Given the description of an element on the screen output the (x, y) to click on. 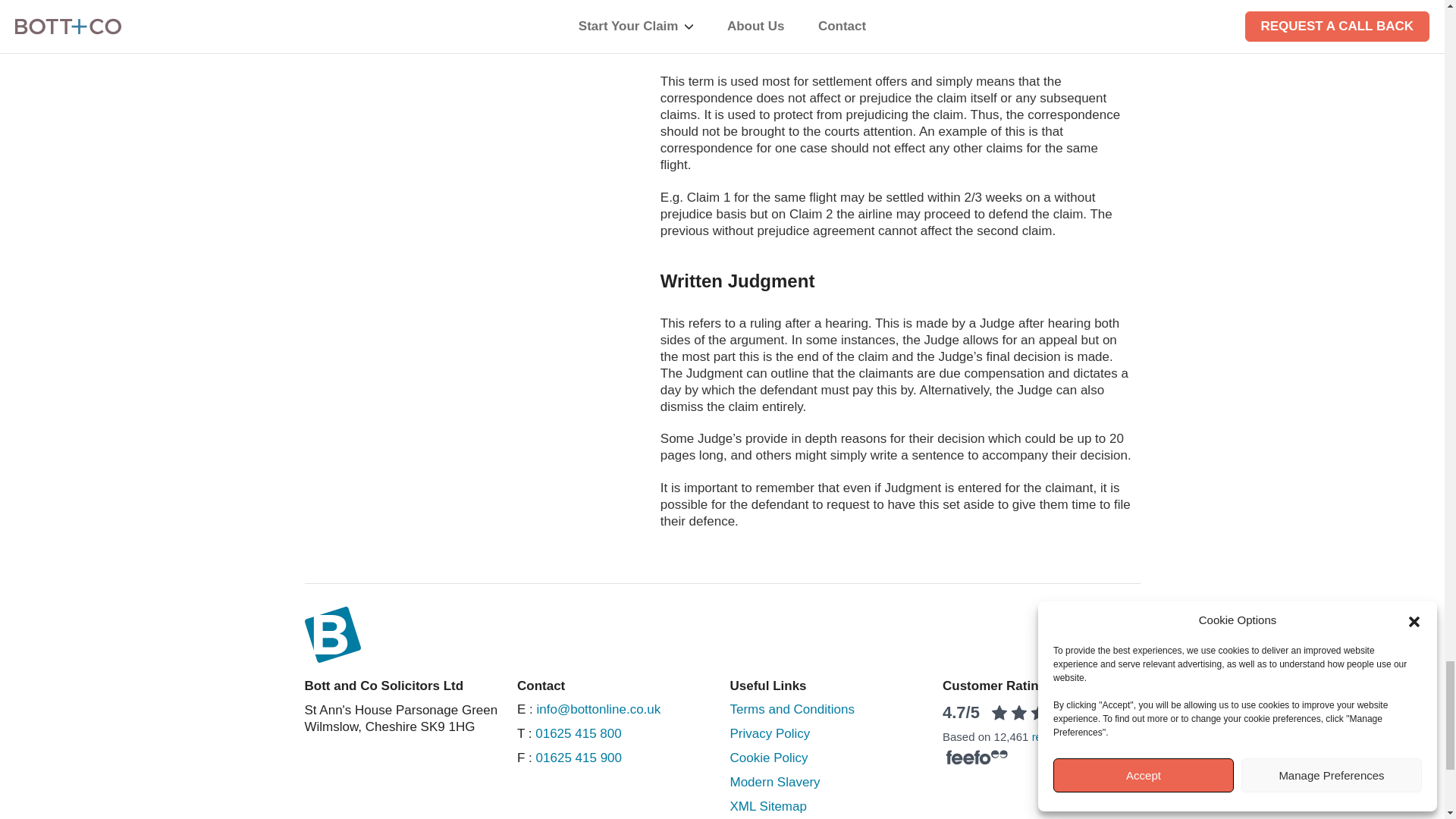
Terms and Conditions (791, 708)
01625 415 800 (578, 733)
Privacy Policy (578, 757)
Cookie Policy (769, 733)
